Given the description of an element on the screen output the (x, y) to click on. 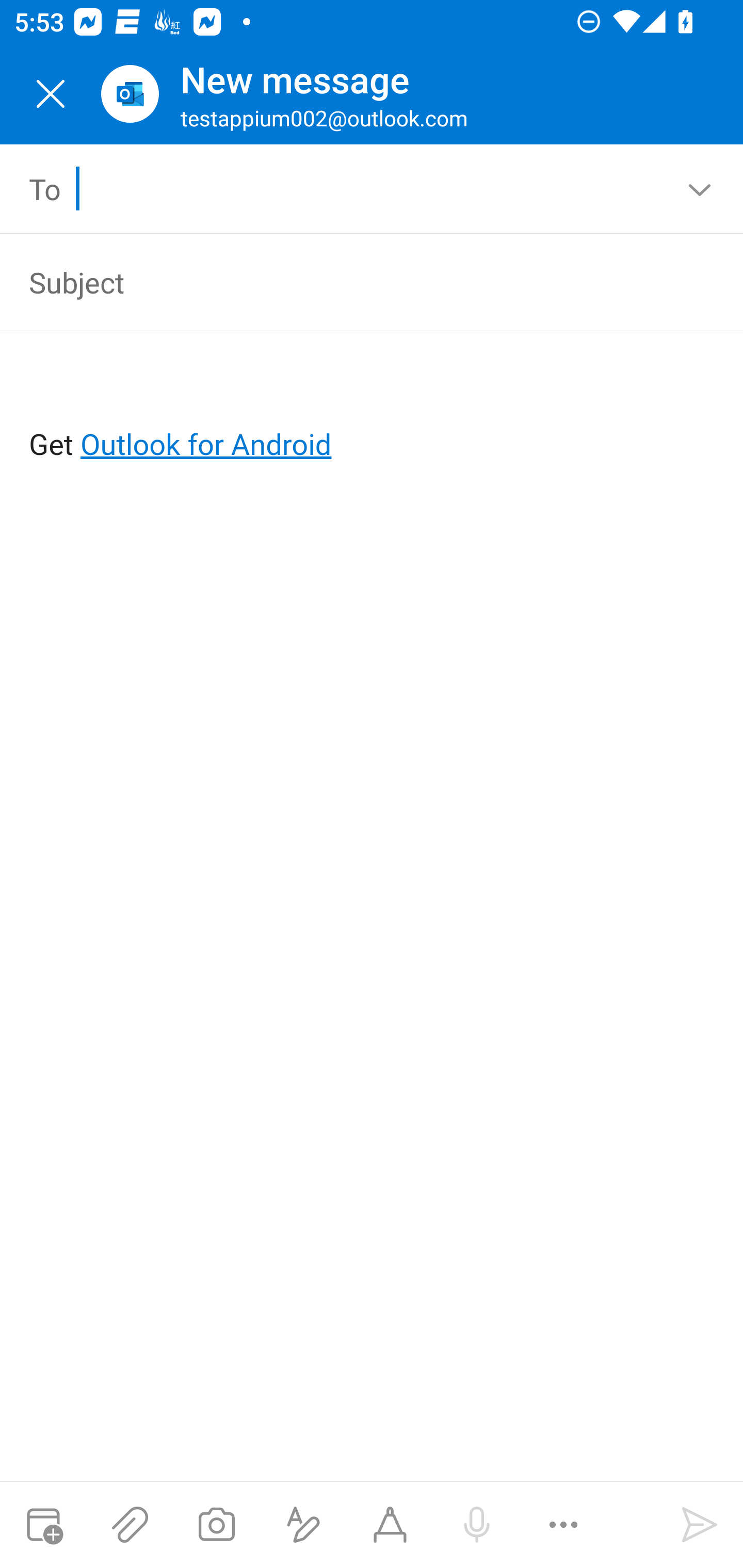
Close (50, 93)
Subject (342, 281)


Get Outlook for Android (372, 411)
Attach meeting (43, 1524)
Attach files (129, 1524)
Take a photo (216, 1524)
Show formatting options (303, 1524)
Start Ink compose (389, 1524)
More options (563, 1524)
Send (699, 1524)
